Given the description of an element on the screen output the (x, y) to click on. 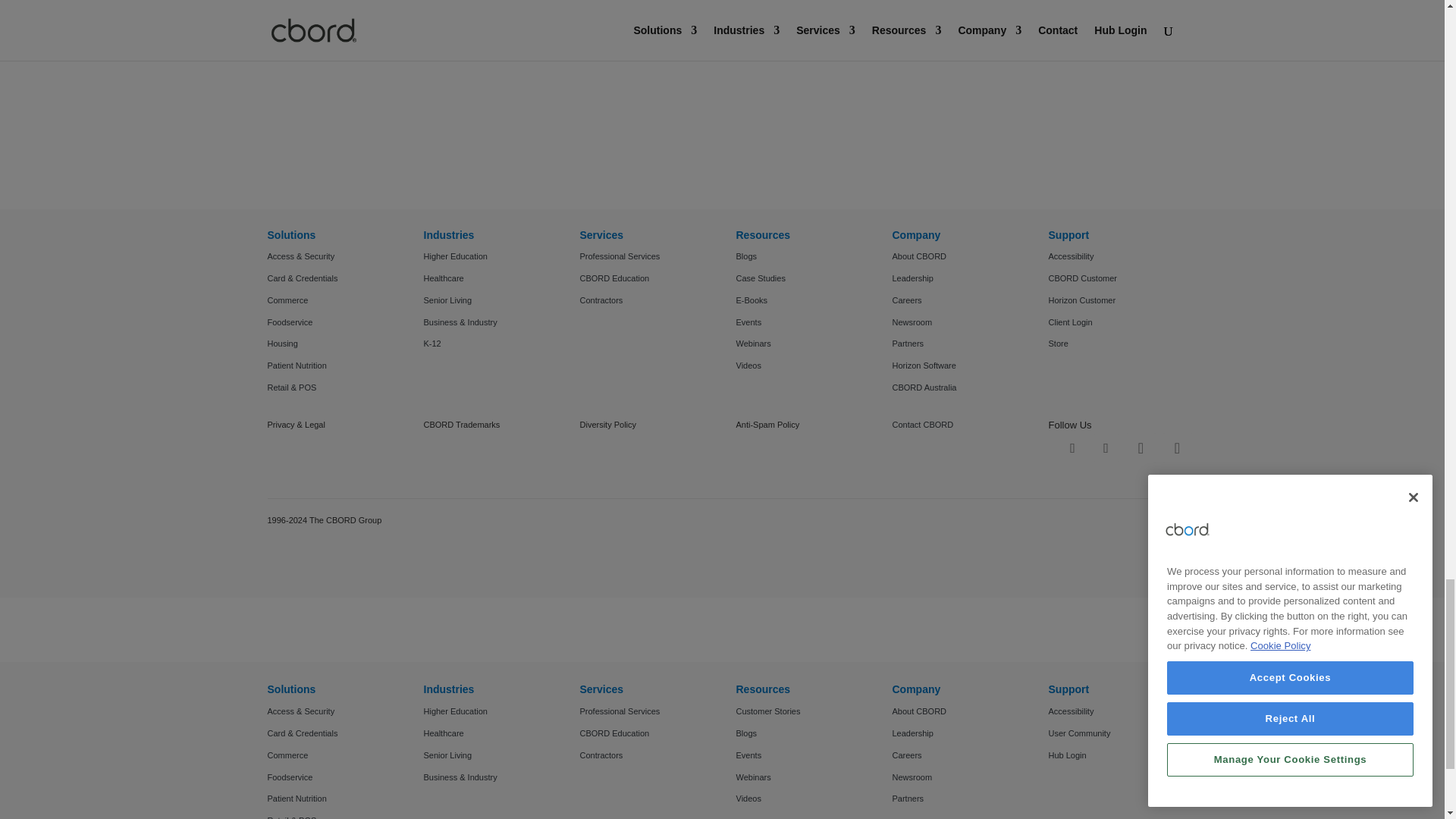
Follow on Youtube (1176, 448)
Follow on Facebook (1072, 447)
Follow on LinkedIn (1140, 448)
Follow on X (1105, 447)
